Given the description of an element on the screen output the (x, y) to click on. 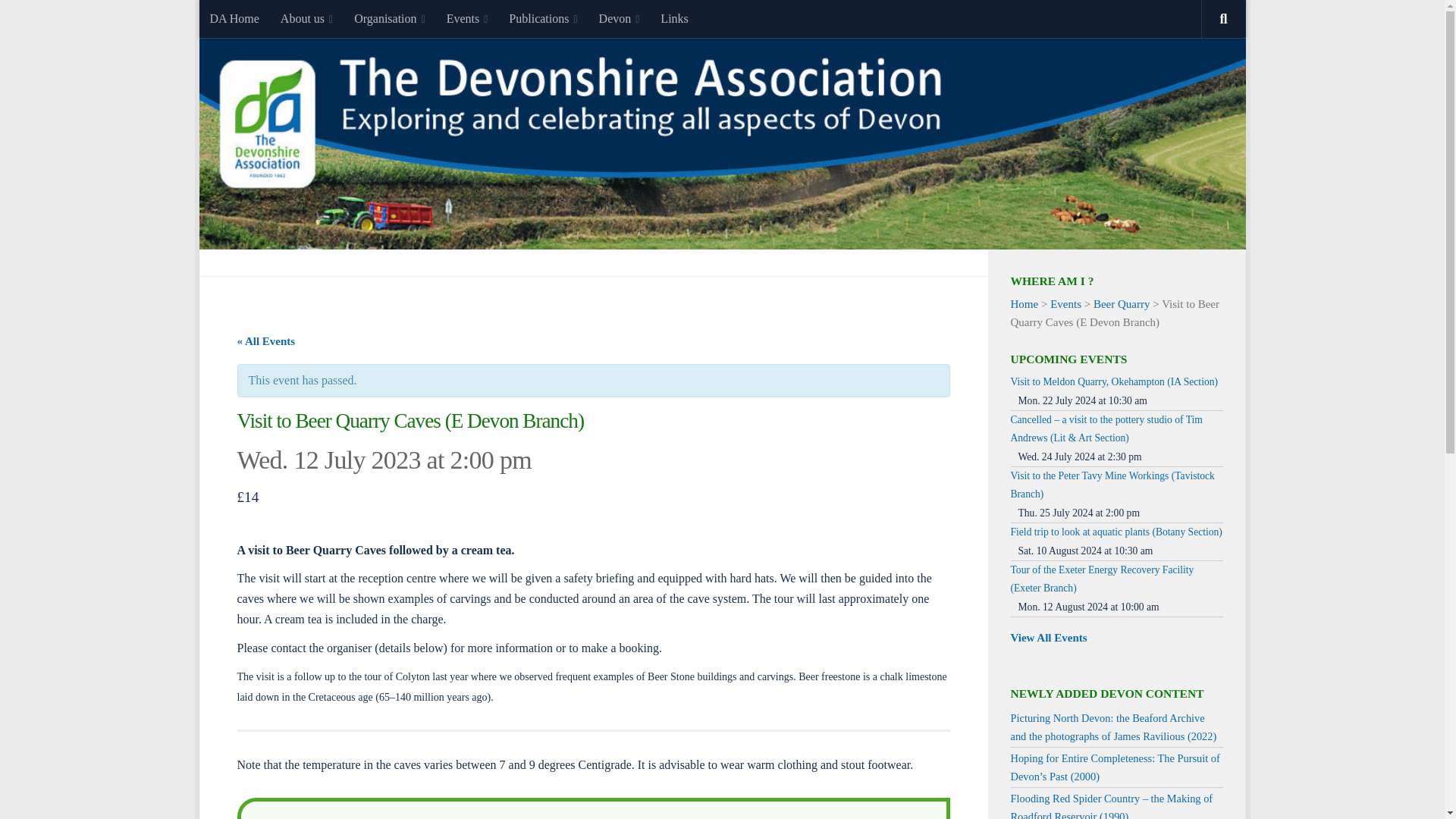
Skip to content (258, 20)
Go to The Devonshire Association. (1024, 304)
Go to the Beer Quarry tag archives. (1121, 304)
